Given the description of an element on the screen output the (x, y) to click on. 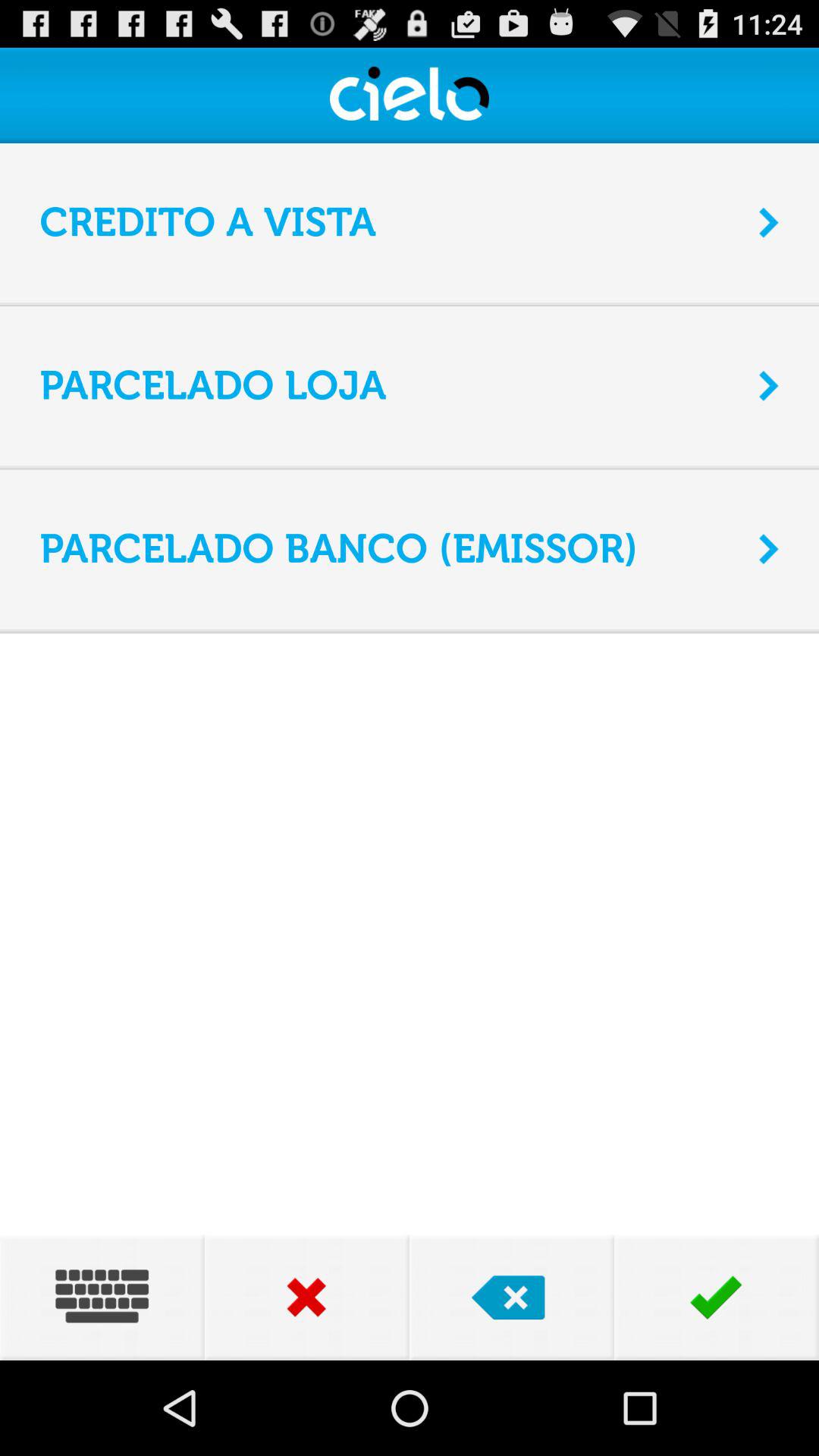
click credito a vista app (389, 222)
